Given the description of an element on the screen output the (x, y) to click on. 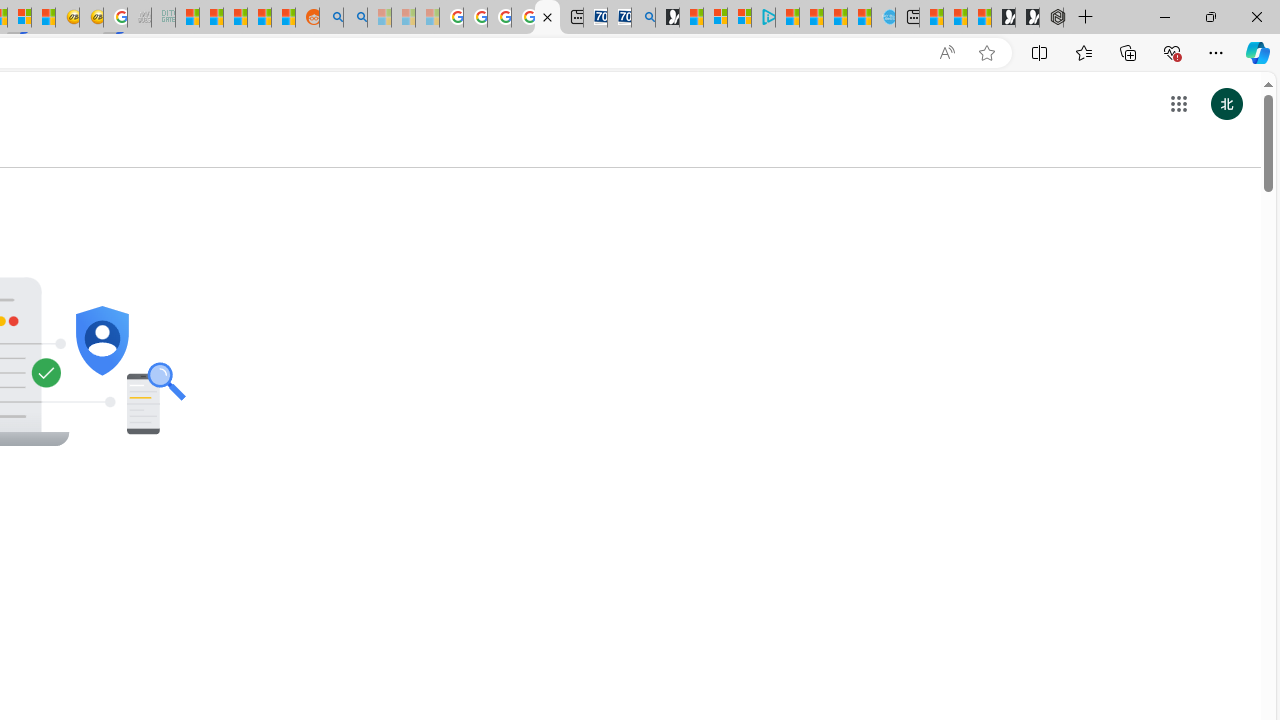
Student Loan Update: Forgiveness Program Ends This Month (259, 17)
